Given the description of an element on the screen output the (x, y) to click on. 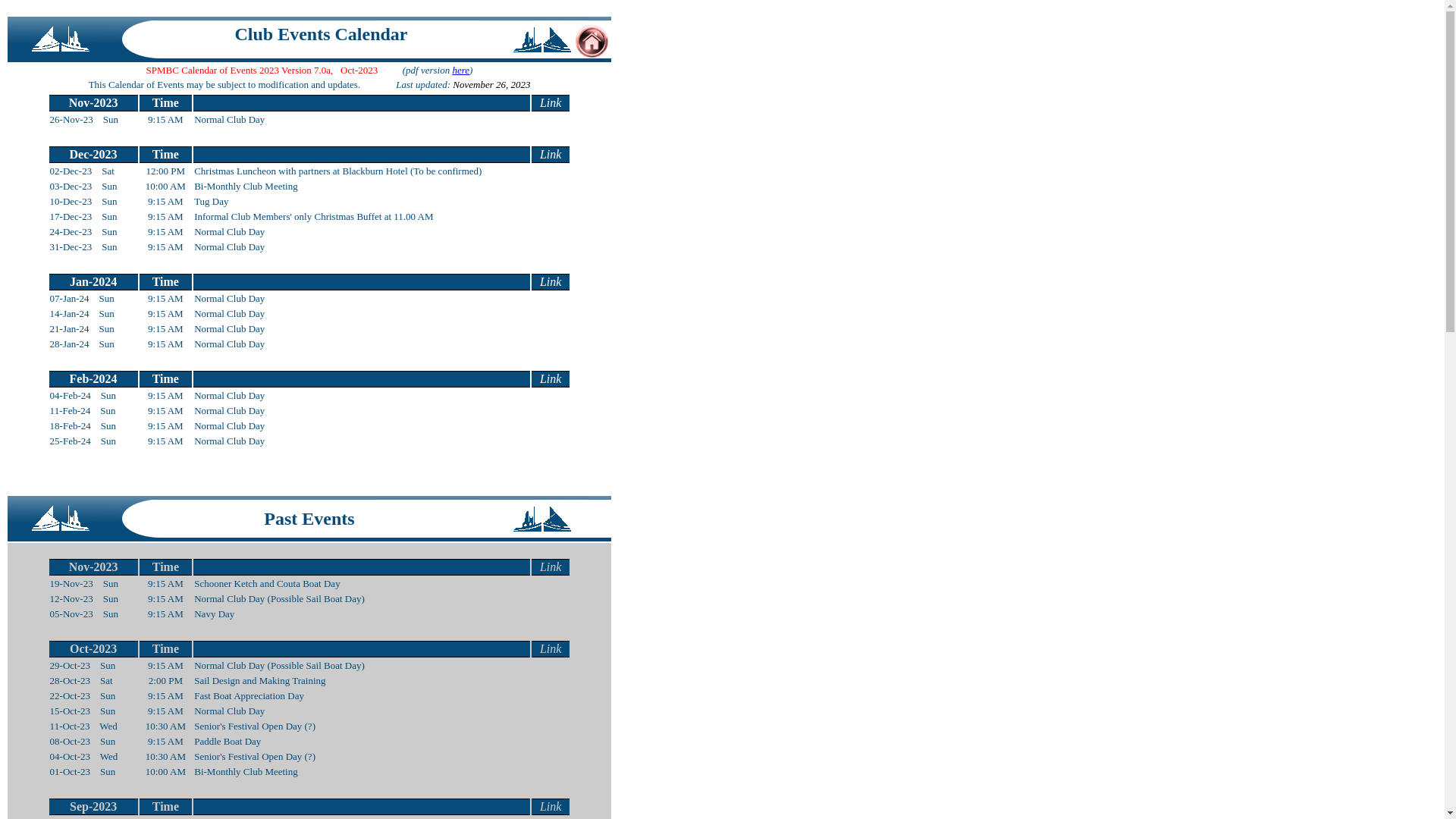
here Element type: text (460, 69)
